Given the description of an element on the screen output the (x, y) to click on. 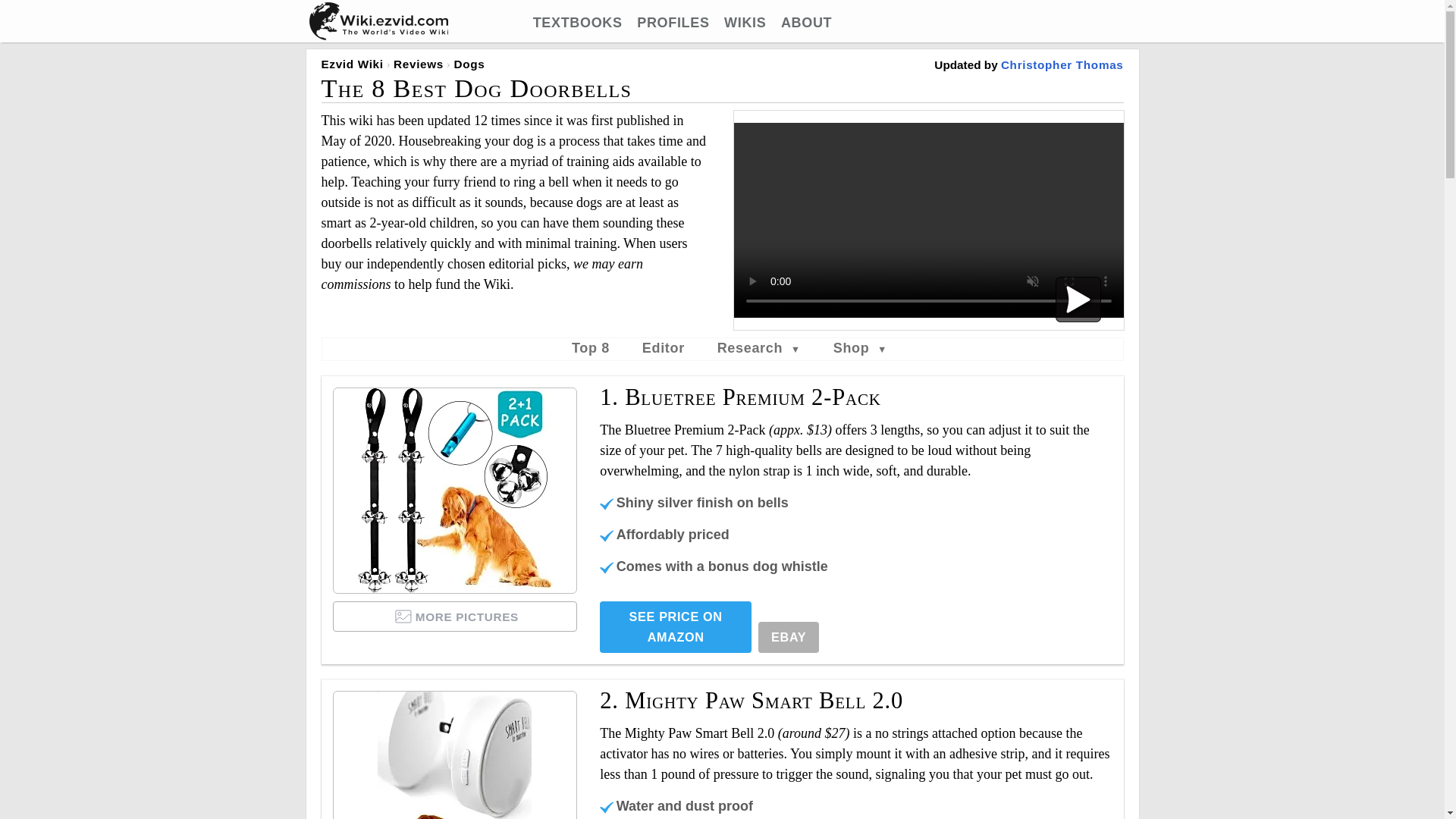
SEE PRICE ON AMAZON (675, 626)
ABOUT (805, 22)
Top 8 (591, 347)
Ezvid Wiki (352, 63)
Christopher Thomas (1062, 64)
EBAY (788, 636)
MORE PICTURES (454, 615)
TEXTBOOKS (577, 22)
PROFILES (673, 22)
WIKIS (744, 22)
Dogs (468, 63)
Editor (663, 347)
Reviews (418, 63)
